Given the description of an element on the screen output the (x, y) to click on. 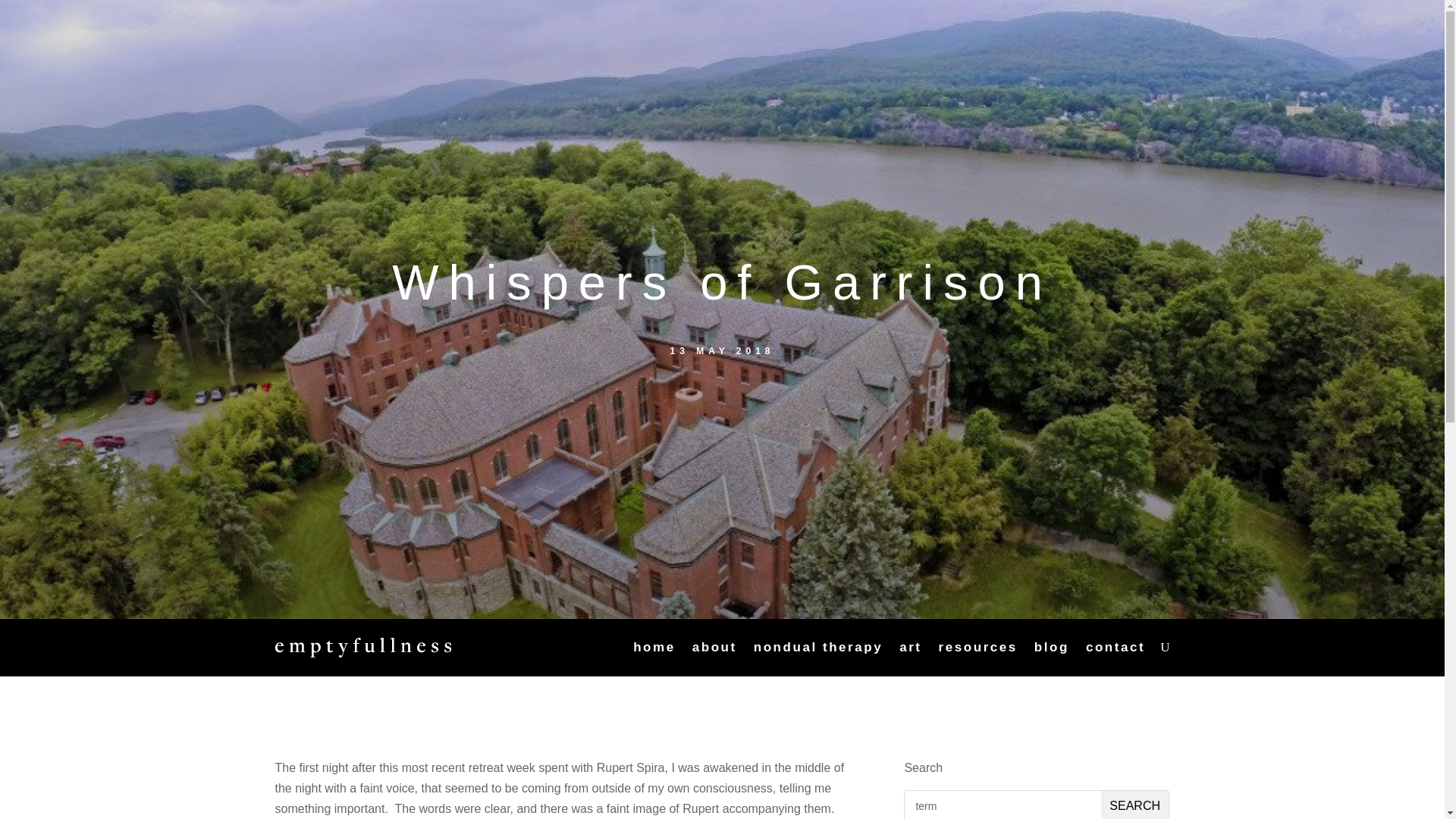
resources (978, 647)
contact (1115, 647)
Search (1134, 805)
Search (1134, 805)
nondual therapy (818, 647)
Search (1134, 805)
